Given the description of an element on the screen output the (x, y) to click on. 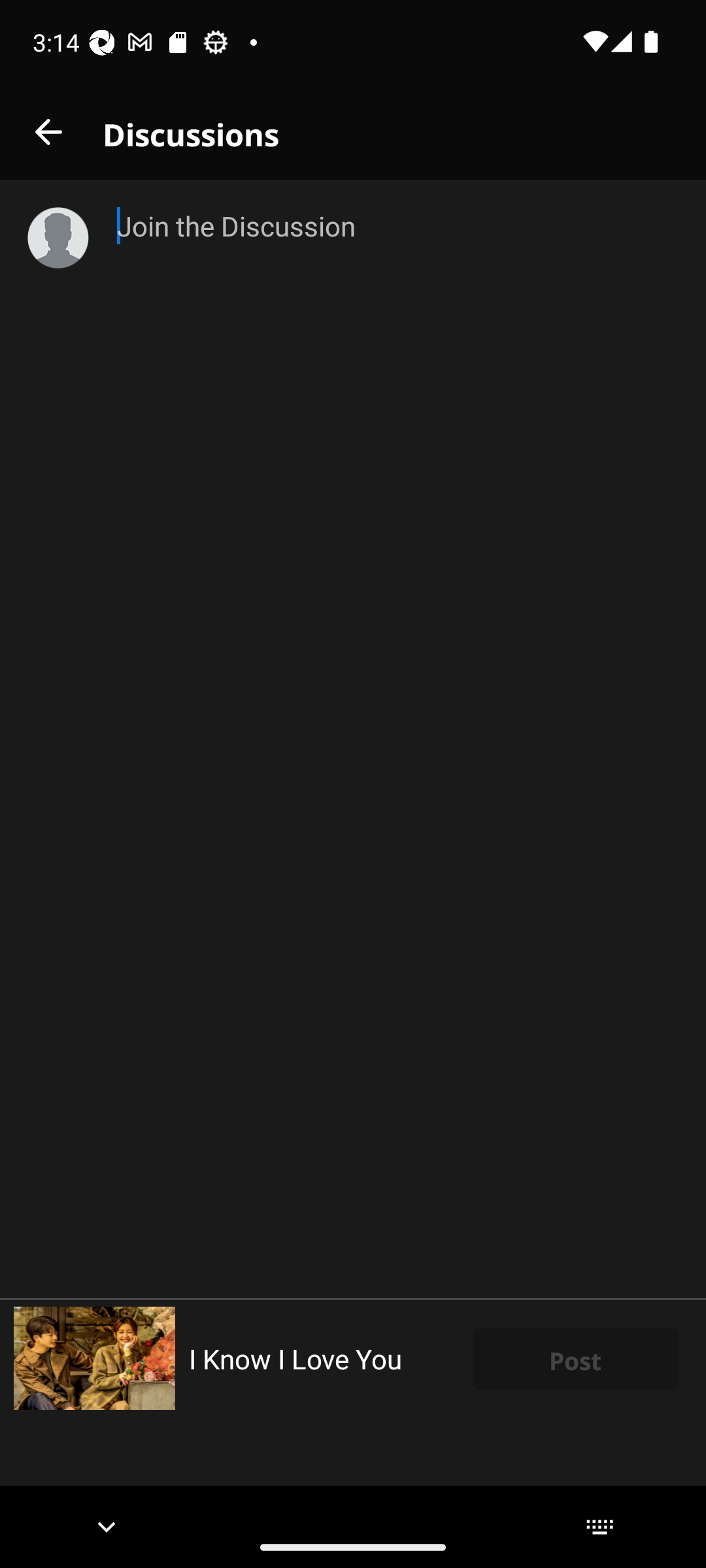
close_button (48, 131)
Join the Discussion (397, 738)
Post (575, 1358)
